Given the description of an element on the screen output the (x, y) to click on. 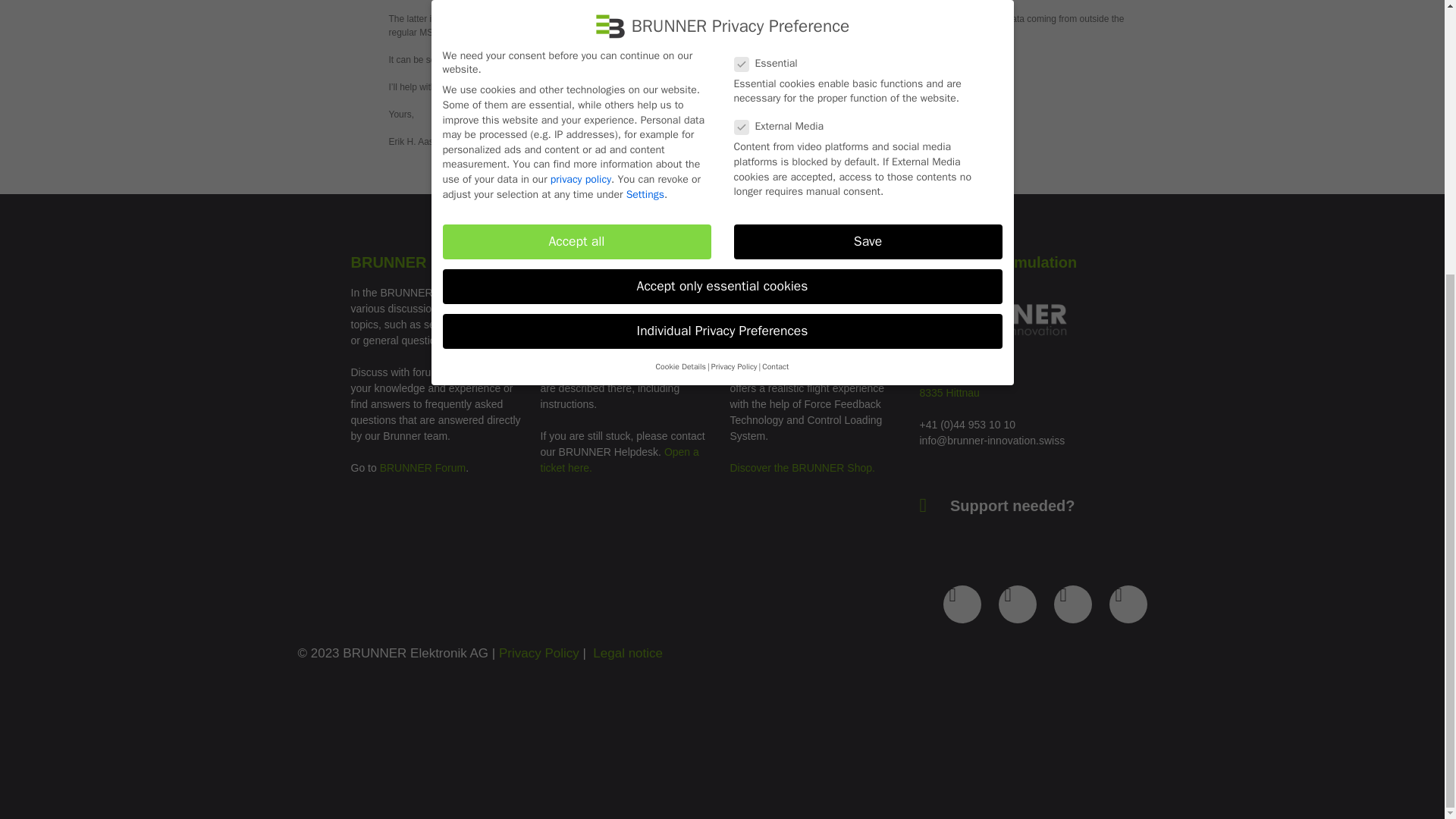
BRUNNER Forum (422, 467)
Discover the BRUNNER Shop. (802, 467)
8335 Hittnau (963, 400)
Open a ticket here. (619, 459)
Industriestrasse 27 (963, 377)
Support needed? (996, 505)
Open Cookie Preferences (32, 395)
